Given the description of an element on the screen output the (x, y) to click on. 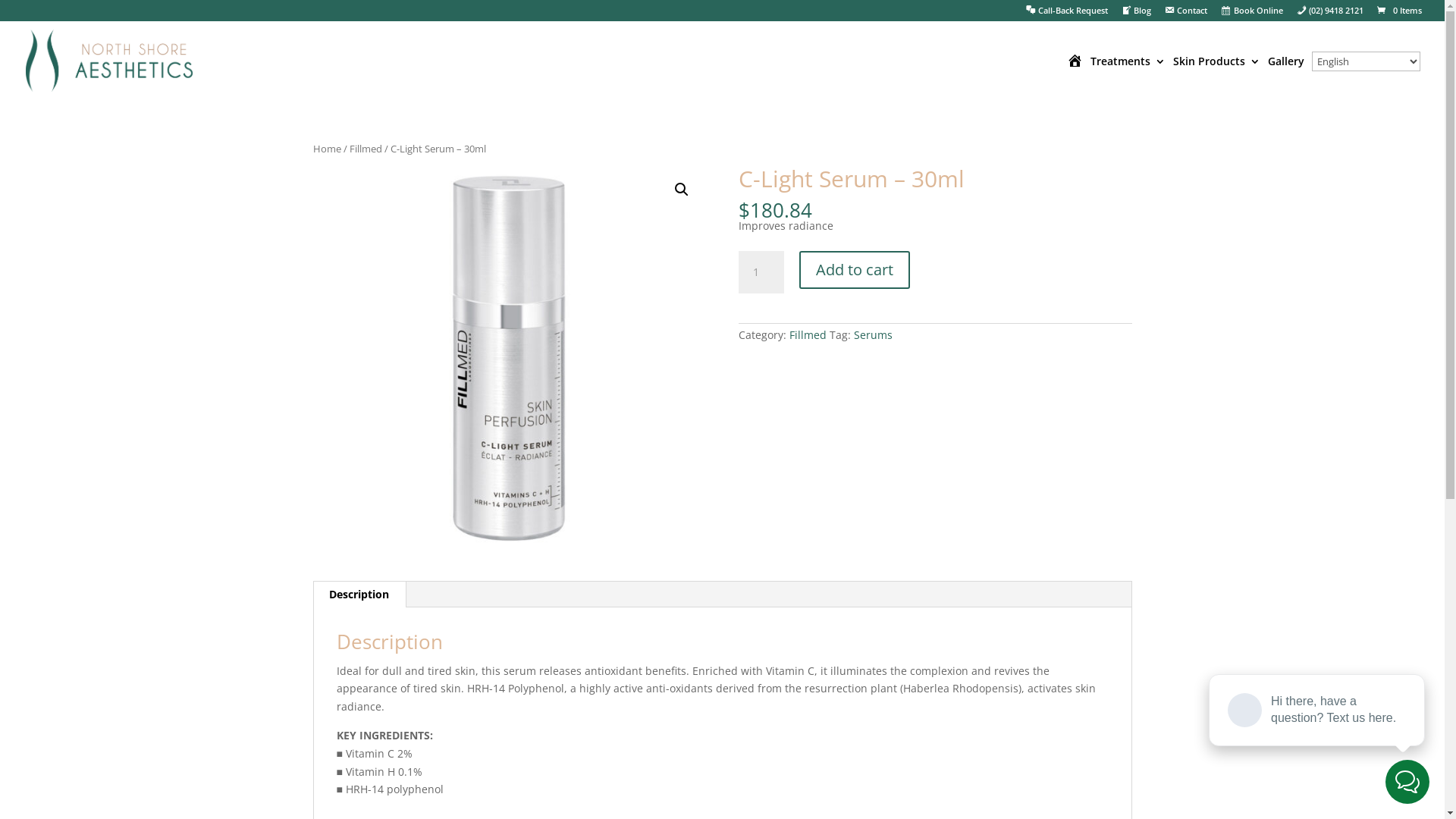
0 Items Element type: text (1397, 9)
Home Element type: text (1074, 77)
Contact Element type: text (1185, 13)
(02) 9418 2121 Element type: text (1329, 13)
Book Online Element type: text (1251, 13)
Skin Products Element type: text (1216, 76)
Fillmed Element type: text (807, 334)
Gallery Element type: text (1285, 76)
Call-Back Request Element type: text (1066, 13)
Home Element type: text (326, 148)
Blog Element type: text (1136, 13)
Serums Element type: text (872, 334)
Fillmed Element type: text (364, 148)
Description Element type: text (358, 594)
Treatments Element type: text (1127, 76)
Add to cart Element type: text (854, 269)
nsa_c_light_serum Element type: hover (508, 361)
